Given the description of an element on the screen output the (x, y) to click on. 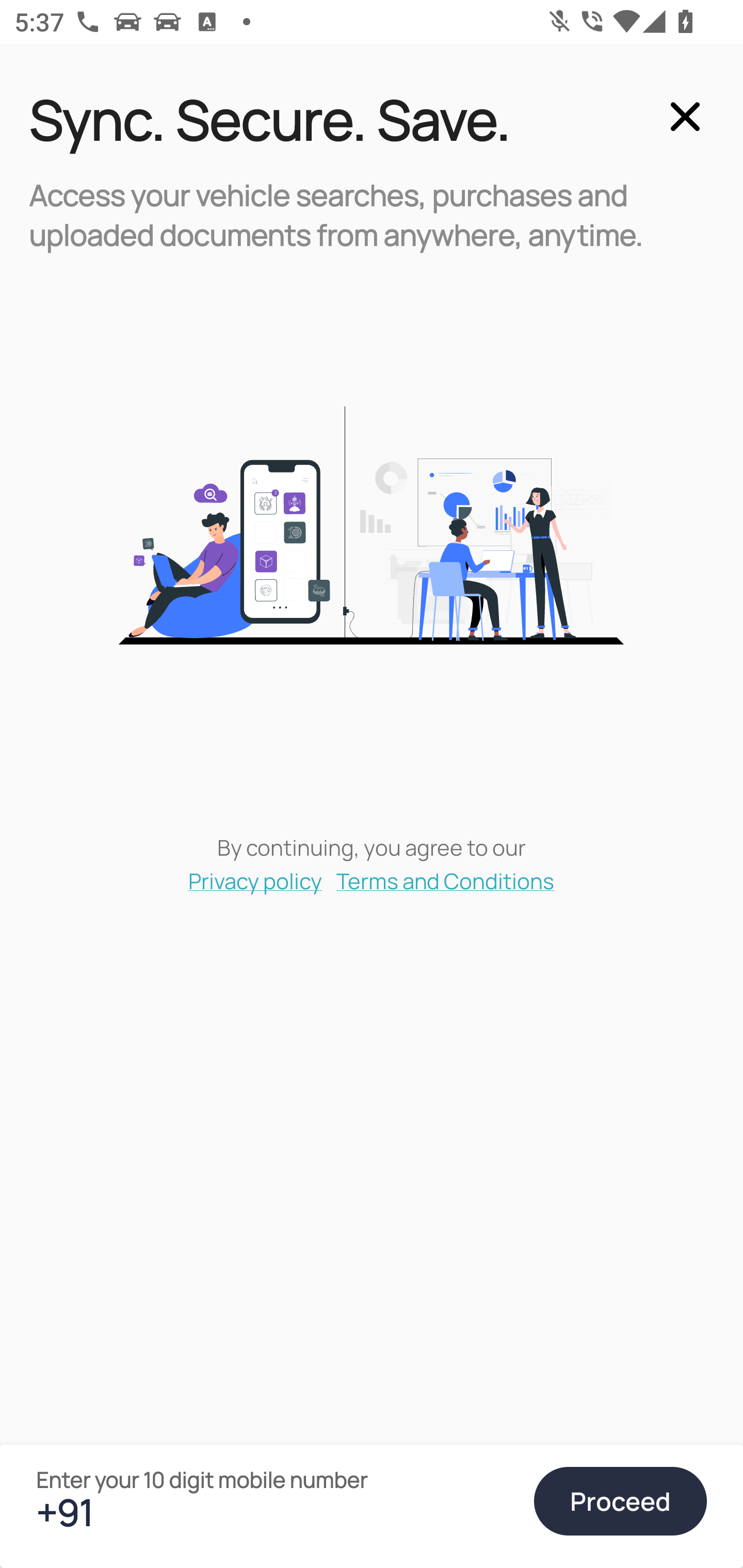
Privacy policy (254, 880)
Terms and Conditions (445, 880)
Proceed (620, 1501)
Enter your 10 digit mobile number (275, 1512)
